Given the description of an element on the screen output the (x, y) to click on. 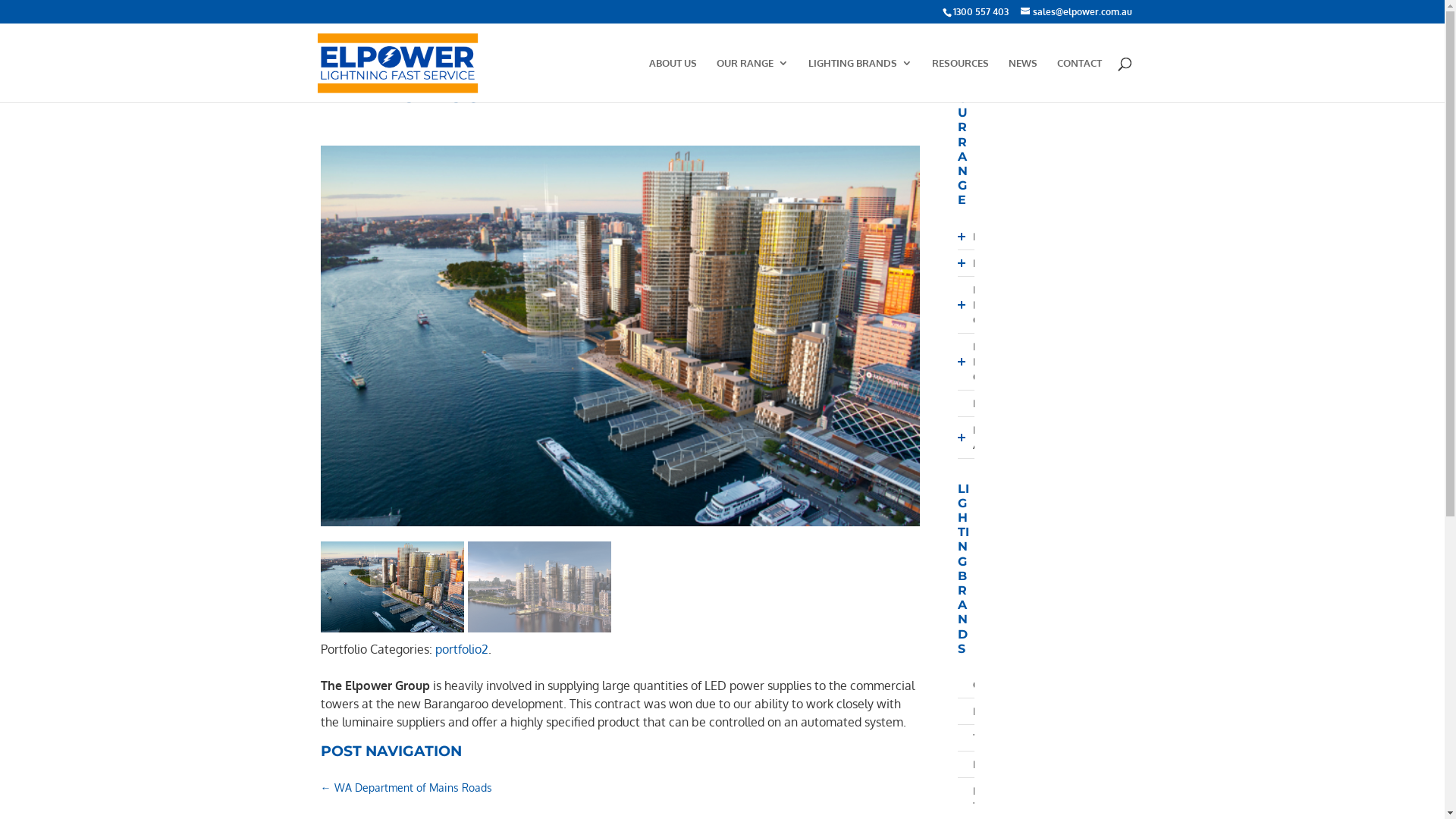
LIGHTING BRANDS Element type: text (860, 79)
Osram Element type: text (972, 684)
Electro Terminal Element type: text (972, 798)
Tridonic Element type: text (972, 737)
EldoLED Element type: text (972, 710)
sales@elpower.com.au Element type: text (1076, 11)
RESOURCES Element type: text (959, 79)
OUR RANGE Element type: text (751, 79)
ABOUT US Element type: text (672, 79)
Lamps Element type: text (972, 262)
Luminaires Element type: text (972, 403)
Electronic Lighting Control Element type: text (972, 361)
portfolio2 Element type: text (461, 648)
BJB Element type: text (972, 764)
CONTACT Element type: text (1079, 79)
LED Element type: text (972, 236)
Lighting Accessories Element type: text (972, 437)
NEWS Element type: text (1022, 79)
Magnetic Lighting Control Element type: text (972, 304)
